Given the description of an element on the screen output the (x, y) to click on. 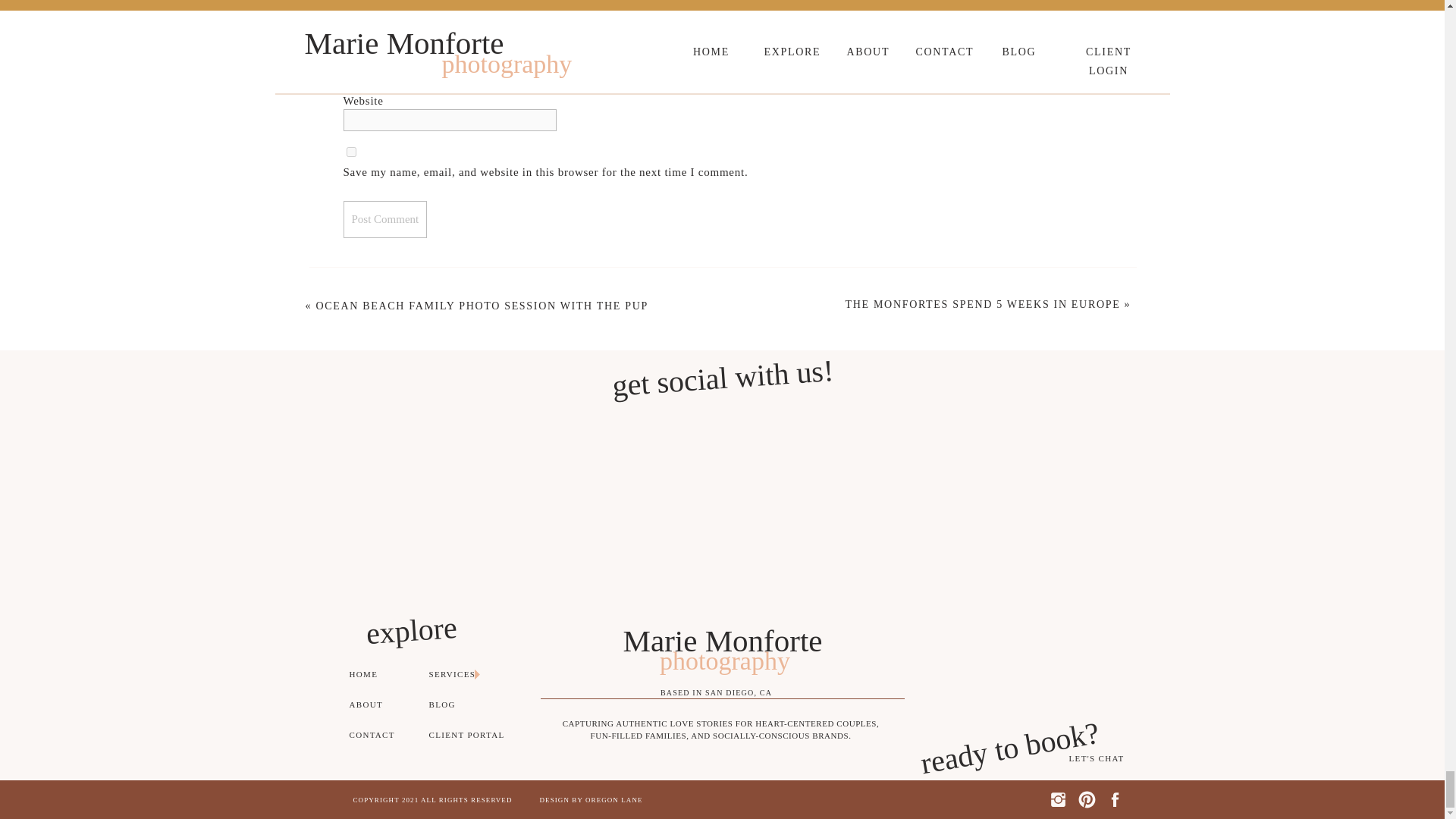
THE MONFORTES SPEND 5 WEEKS IN EUROPE (983, 304)
Post Comment (384, 219)
yes (350, 152)
OCEAN BEACH FAMILY PHOTO SESSION WITH THE PUP (481, 306)
Post Comment (384, 219)
